Given the description of an element on the screen output the (x, y) to click on. 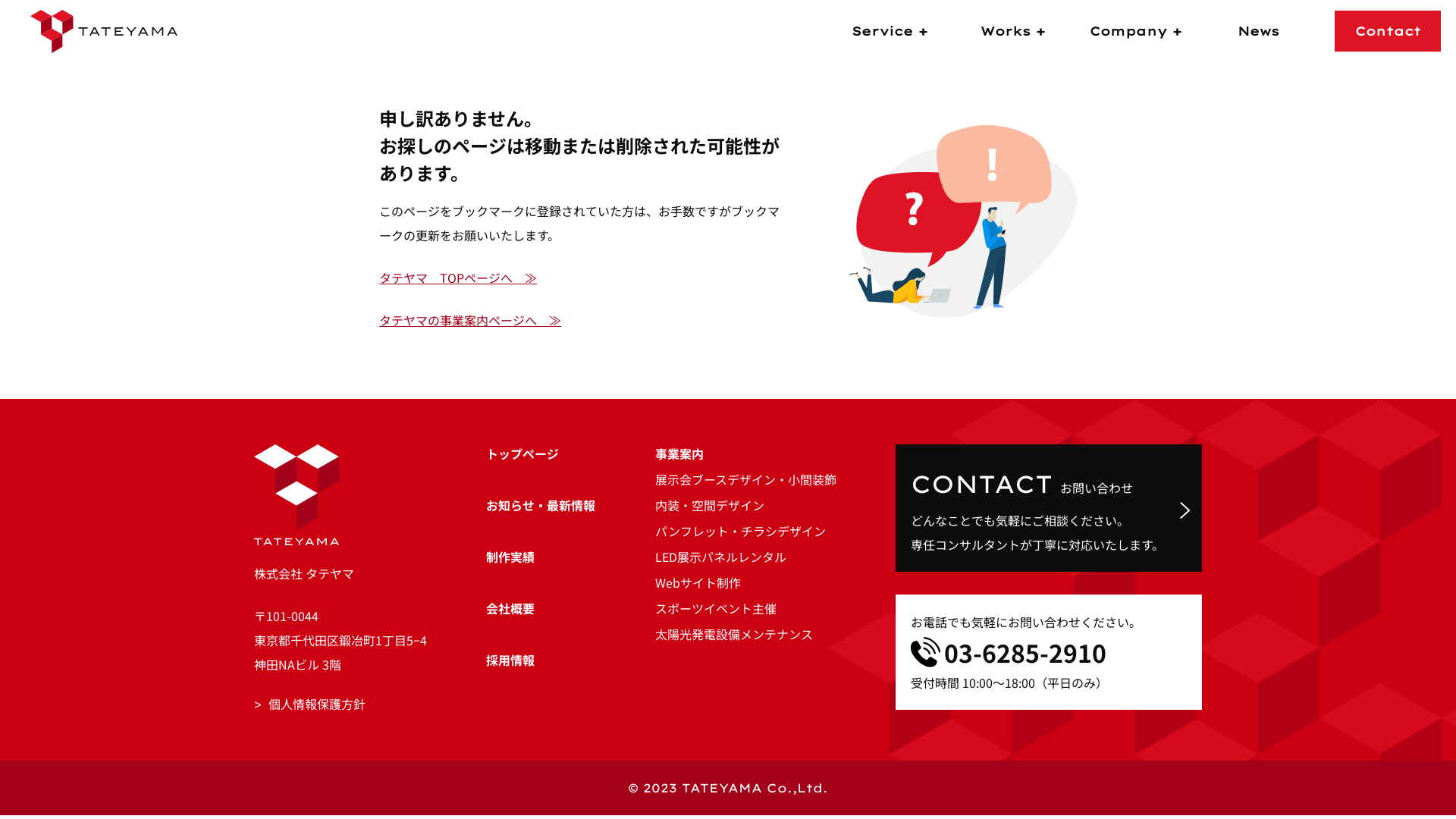
Contact Element type: text (1387, 30)
Company + Element type: text (1134, 31)
Service + Element type: text (889, 31)
News Element type: text (1257, 31)
Works + Element type: text (1012, 31)
